Given the description of an element on the screen output the (x, y) to click on. 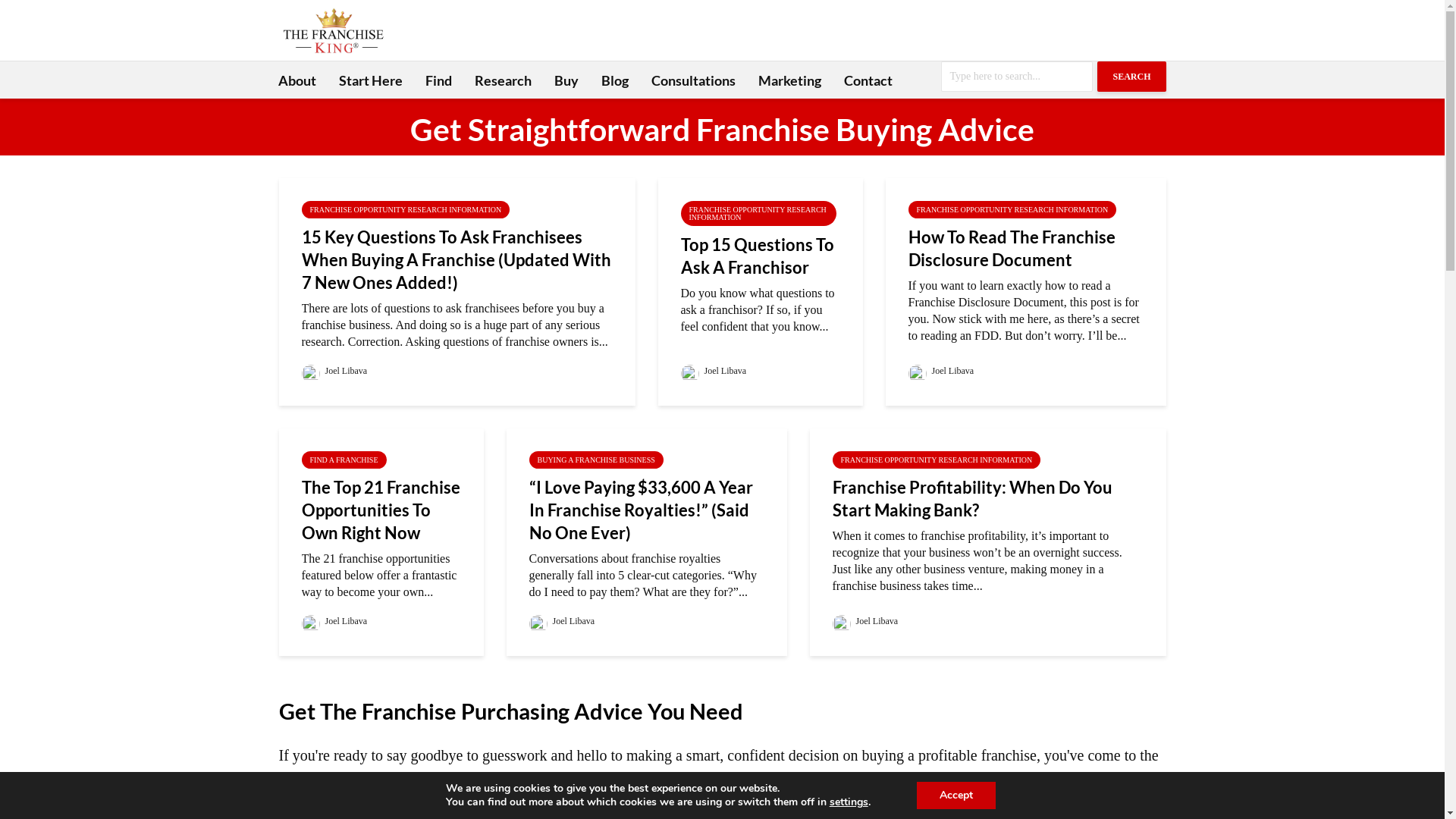
Joel Libava Element type: text (941, 370)
Research Element type: text (502, 80)
Start Here Element type: text (370, 80)
Contact Element type: text (867, 80)
FRANCHISE OPPORTUNITY RESEARCH INFORMATION Element type: text (1012, 209)
Take Action Now! Element type: text (352, 15)
Marketing Element type: text (788, 80)
Blog Element type: text (614, 80)
Franchise Profitability: When Do You Start Making Bank? Element type: text (987, 498)
FRANCHISE OPPORTUNITY RESEARCH INFORMATION Element type: text (936, 459)
Joel Libava Element type: text (334, 620)
Buy Element type: text (565, 80)
Consultations Element type: text (693, 80)
Joel Libava Element type: text (713, 370)
Top 15 Questions To Ask A Franchisor Element type: text (760, 256)
Accept Element type: text (955, 795)
BUYING A FRANCHISE BUSINESS Element type: text (596, 459)
Joel Libava Element type: text (562, 620)
FRANCHISE OPPORTUNITY RESEARCH INFORMATION Element type: text (405, 209)
Joel Libava Element type: text (865, 620)
SEARCH Element type: text (1131, 76)
FIND A FRANCHISE Element type: text (343, 459)
FRANCHISE OPPORTUNITY RESEARCH INFORMATION Element type: text (758, 212)
Find Element type: text (438, 80)
settings Element type: text (848, 802)
How To Read The Franchise Disclosure Document Element type: text (1025, 248)
Joel Libava Element type: text (334, 370)
About Element type: text (296, 80)
The Top 21 Franchise Opportunities To Own Right Now Element type: text (381, 510)
